Given the description of an element on the screen output the (x, y) to click on. 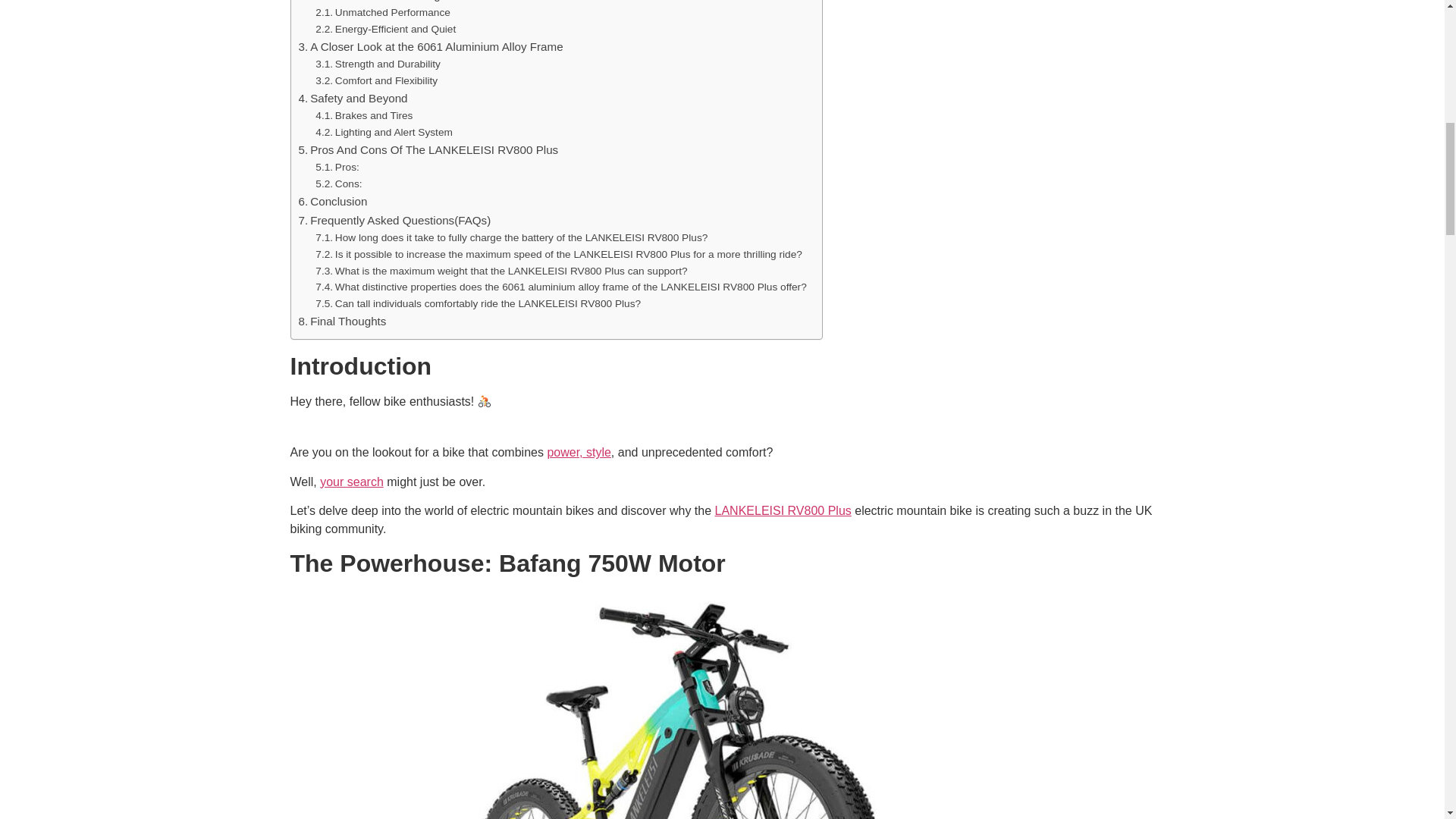
Safety and Beyond (352, 98)
Unmatched Performance (382, 12)
Brakes and Tires (363, 115)
Comfort and Flexibility (376, 80)
Cons: (338, 184)
The Powerhouse: Bafang 750W Motor (402, 2)
A Closer Look at the 6061 Aluminium Alloy Frame (430, 46)
Strength and Durability (378, 64)
Pros And Cons Of The LANKELEISI RV800 Plus (428, 149)
Conclusion (333, 201)
Energy-Efficient and Quiet (385, 29)
Pros: (336, 167)
Lighting and Alert System (383, 132)
